Given the description of an element on the screen output the (x, y) to click on. 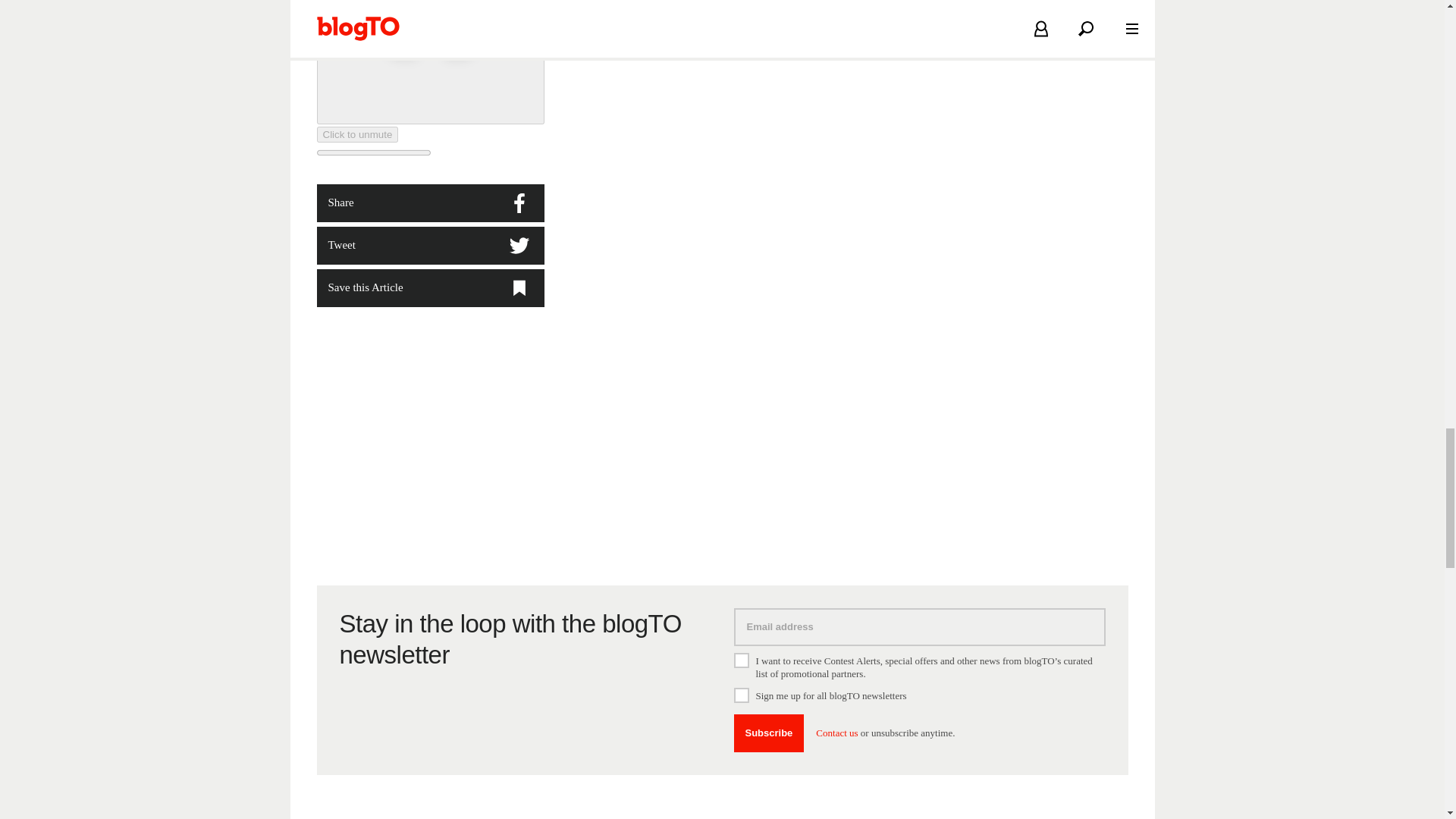
Subscribe (769, 733)
